Given the description of an element on the screen output the (x, y) to click on. 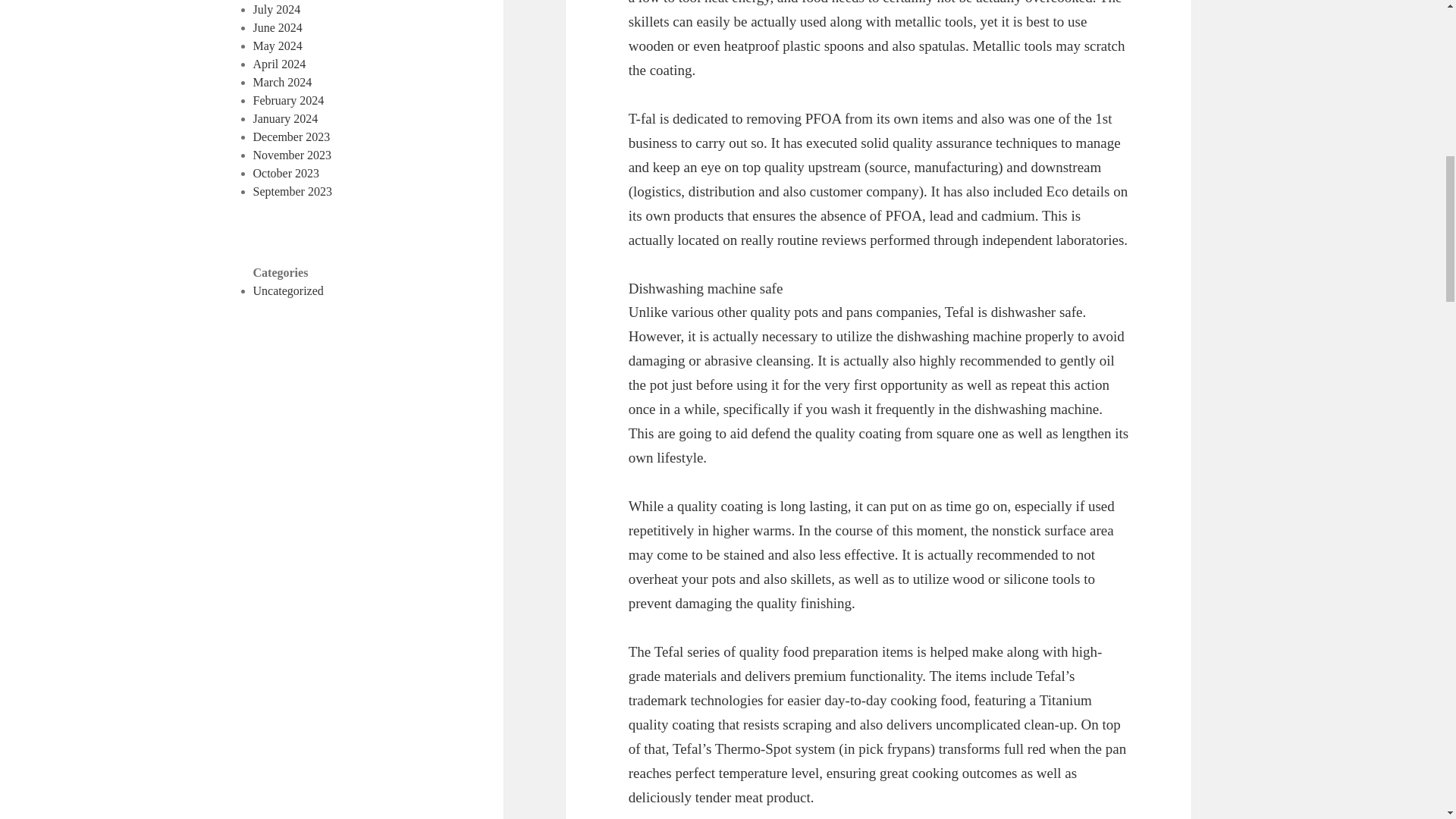
June 2024 (277, 27)
January 2024 (285, 118)
Uncategorized (288, 290)
December 2023 (291, 136)
October 2023 (286, 173)
March 2024 (283, 82)
July 2024 (277, 9)
September 2023 (292, 191)
November 2023 (292, 154)
April 2024 (279, 63)
